Given the description of an element on the screen output the (x, y) to click on. 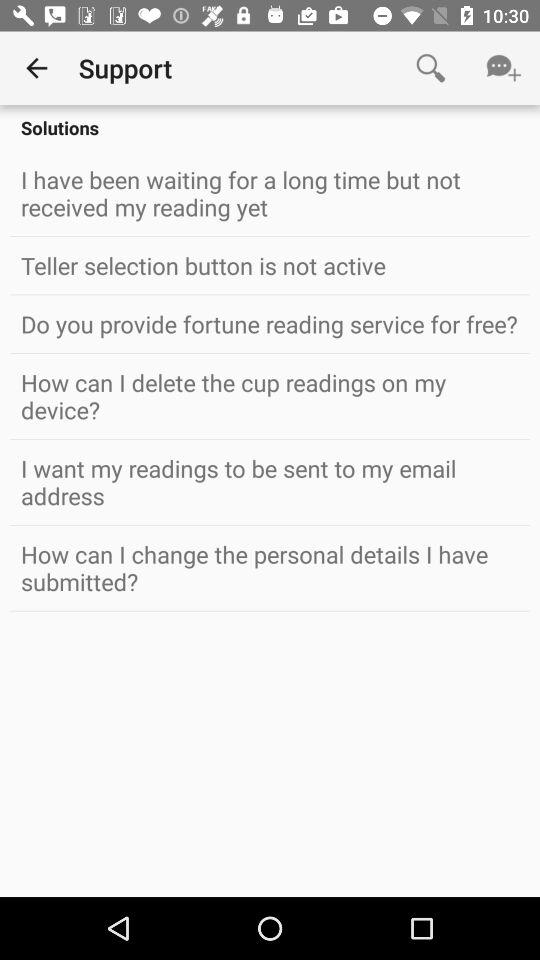
select the item to the right of support item (430, 67)
